Given the description of an element on the screen output the (x, y) to click on. 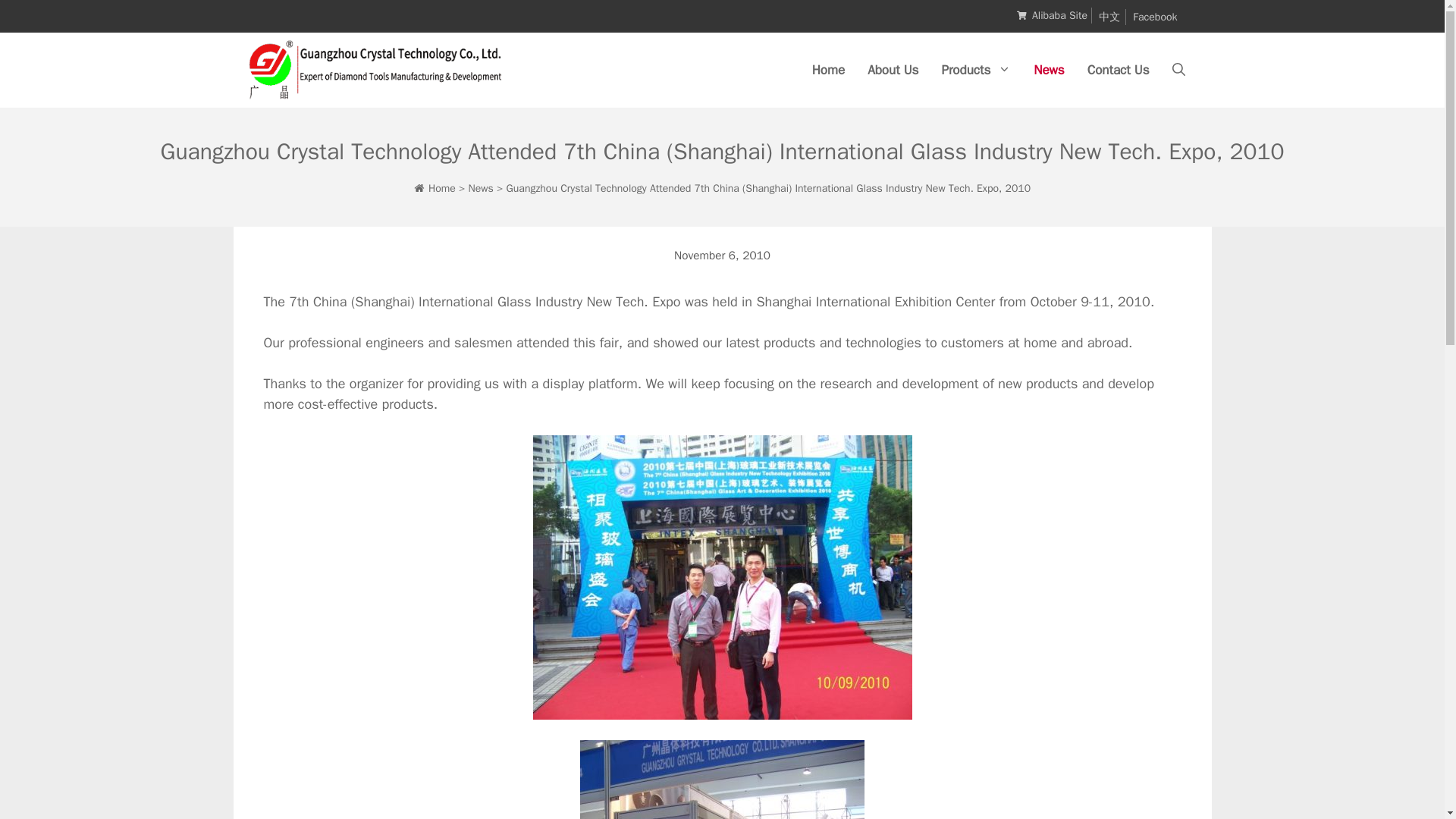
Products (976, 69)
About Us (893, 69)
Facebook (1154, 16)
Alibaba Site (1059, 15)
